Given the description of an element on the screen output the (x, y) to click on. 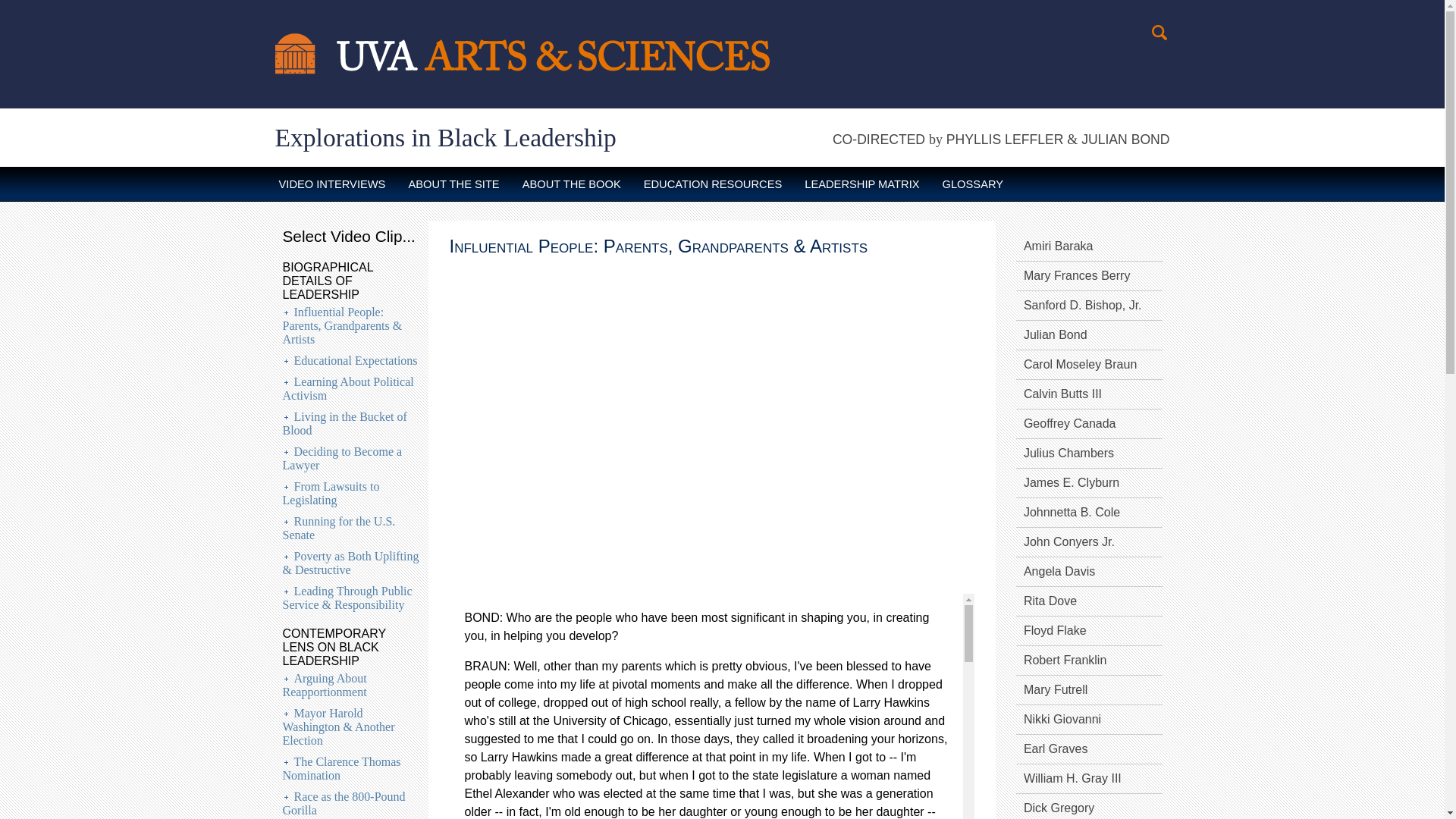
Educational Expectations (355, 359)
Search Site (1160, 32)
Sanford D. Bishop, Jr. (1088, 306)
LEADERSHIP MATRIX (861, 184)
From Lawsuits to Legislating (330, 492)
Enter the terms you wish to search for. (1160, 32)
Deciding to Become a Lawyer (341, 458)
Mary Frances Berry (1088, 276)
EDUCATION RESOURCES (713, 184)
The Clarence Thomas Nomination (341, 768)
Explorations in Black Leadership (445, 137)
GLOSSARY (973, 184)
Running for the U.S. Senate (338, 528)
Race as the 800-Pound Gorilla (343, 803)
